Given the description of an element on the screen output the (x, y) to click on. 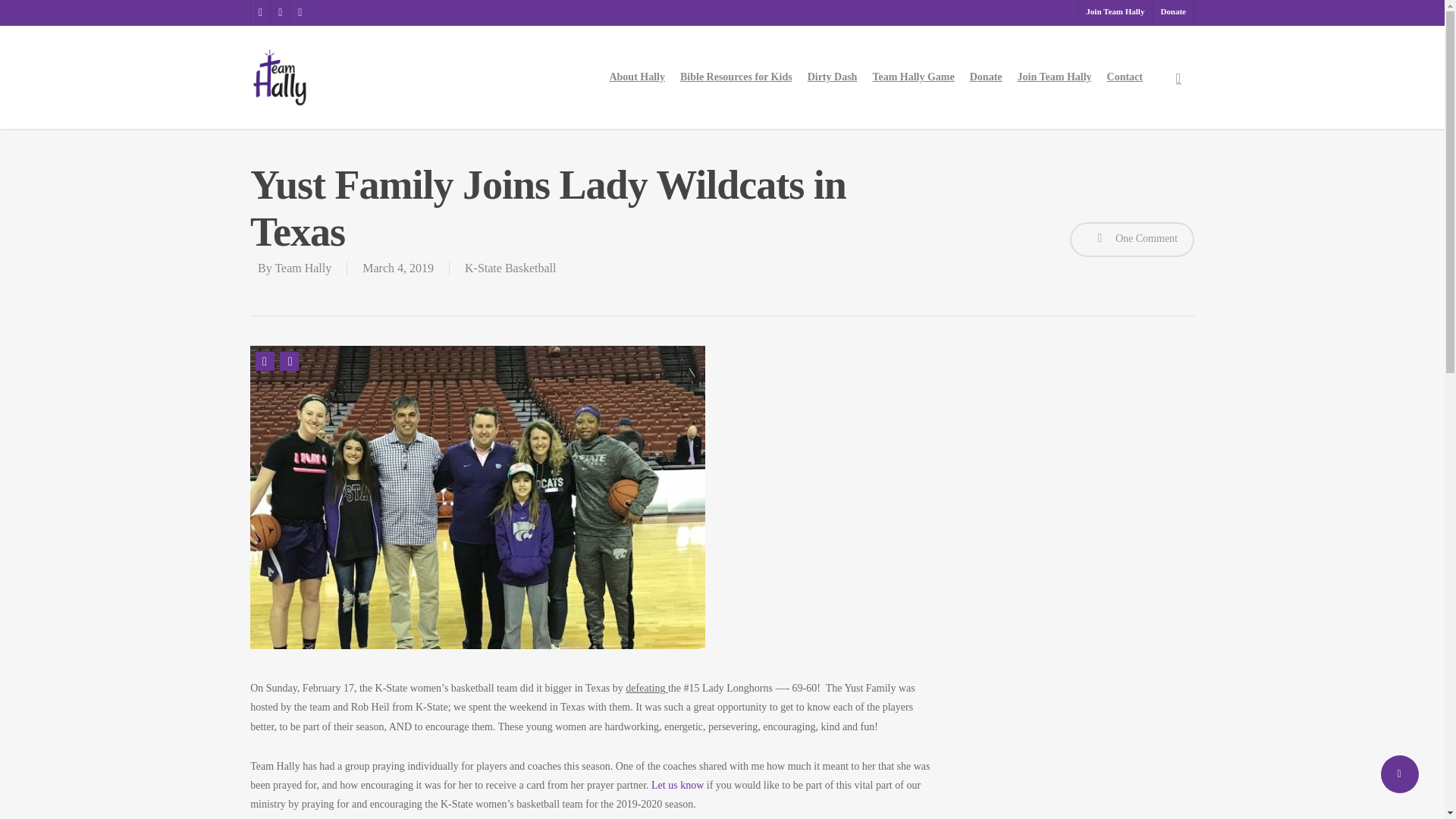
Join Team Hally (1114, 11)
Posts by Team Hally (303, 267)
K-State Basketball (510, 267)
Donate (1172, 11)
Team Hally (303, 267)
One Comment (1131, 239)
Contact (1124, 77)
Bible Resources for Kids (735, 77)
Dirty Dash (831, 77)
Donate (986, 77)
Team Hally Game (912, 77)
Join Team Hally (1054, 77)
About Hally (636, 77)
